Given the description of an element on the screen output the (x, y) to click on. 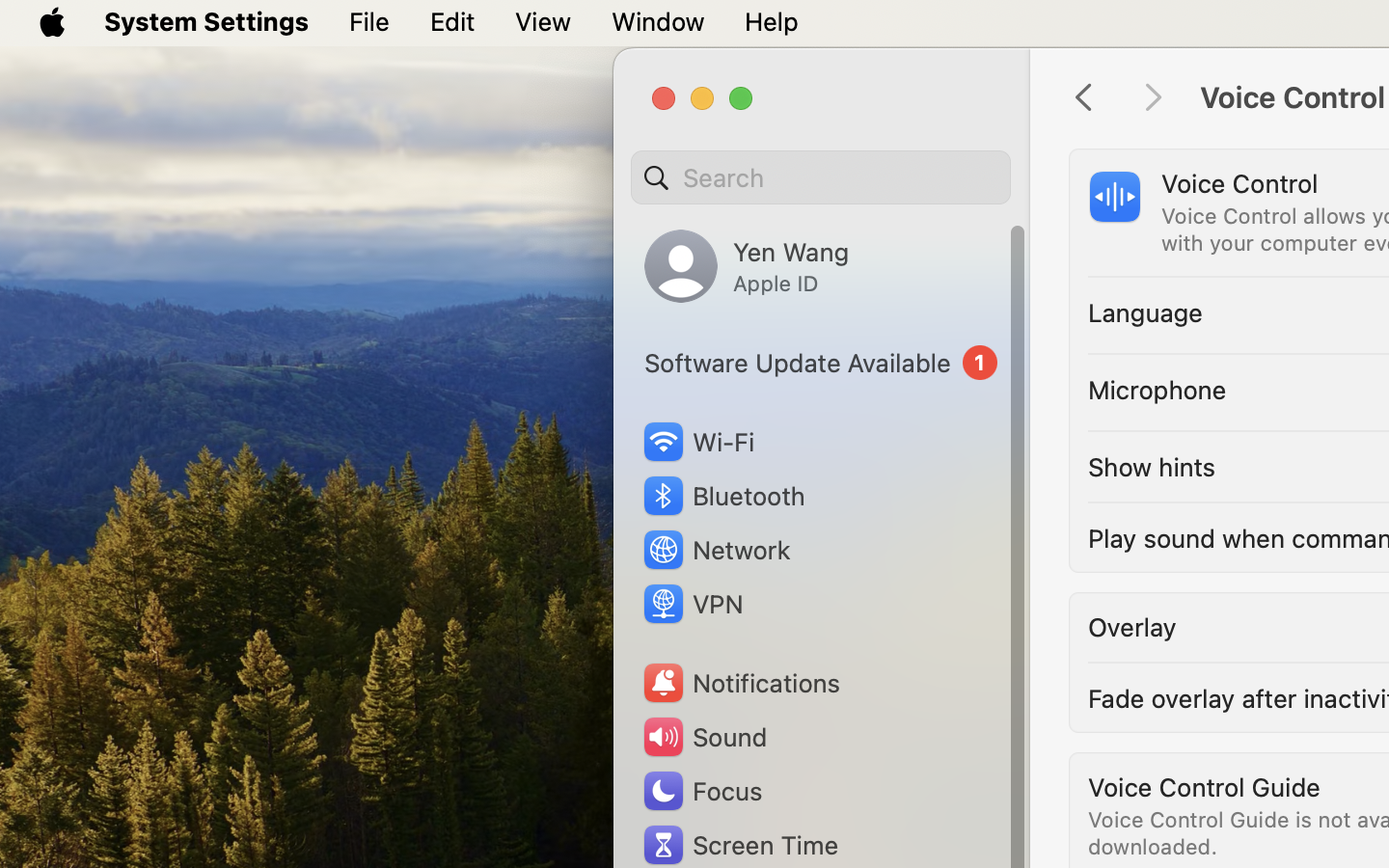
Sound Element type: AXStaticText (703, 736)
